Given the description of an element on the screen output the (x, y) to click on. 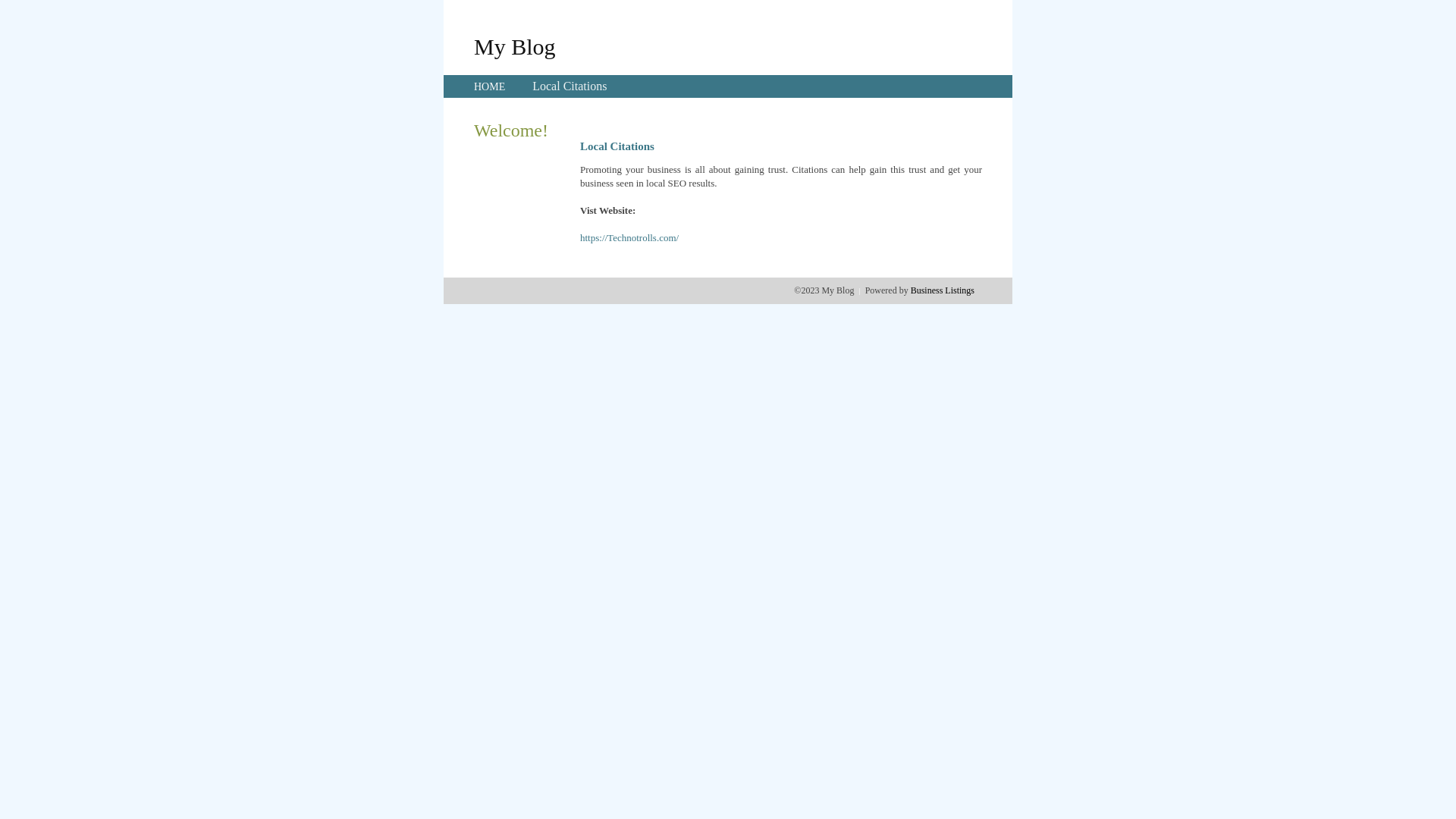
HOME Element type: text (489, 86)
My Blog Element type: text (514, 46)
Local Citations Element type: text (569, 85)
https://Technotrolls.com/ Element type: text (629, 237)
Business Listings Element type: text (942, 290)
